Given the description of an element on the screen output the (x, y) to click on. 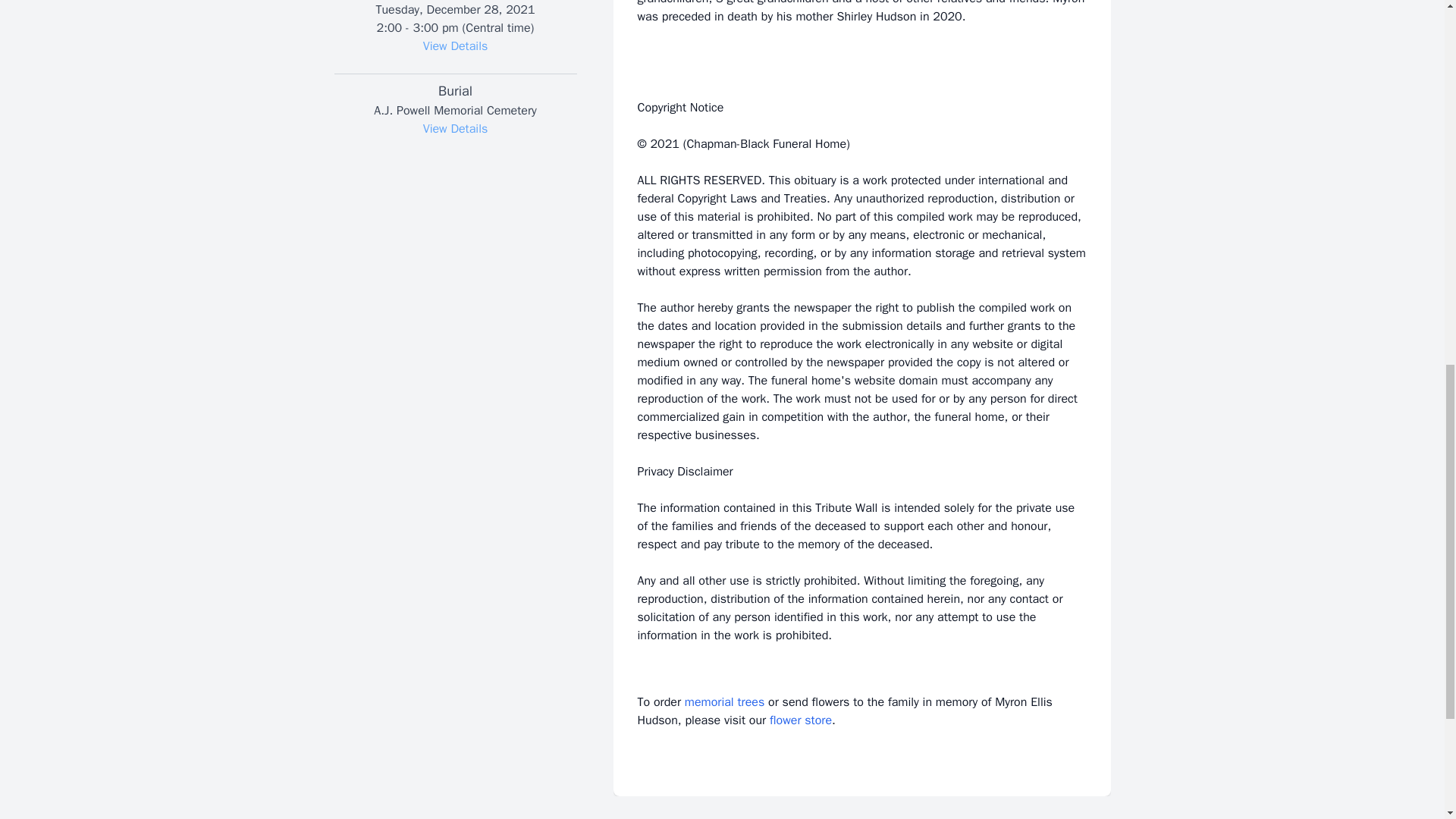
memorial trees (724, 702)
View Details (455, 46)
flower store (800, 720)
View Details (455, 128)
